Given the description of an element on the screen output the (x, y) to click on. 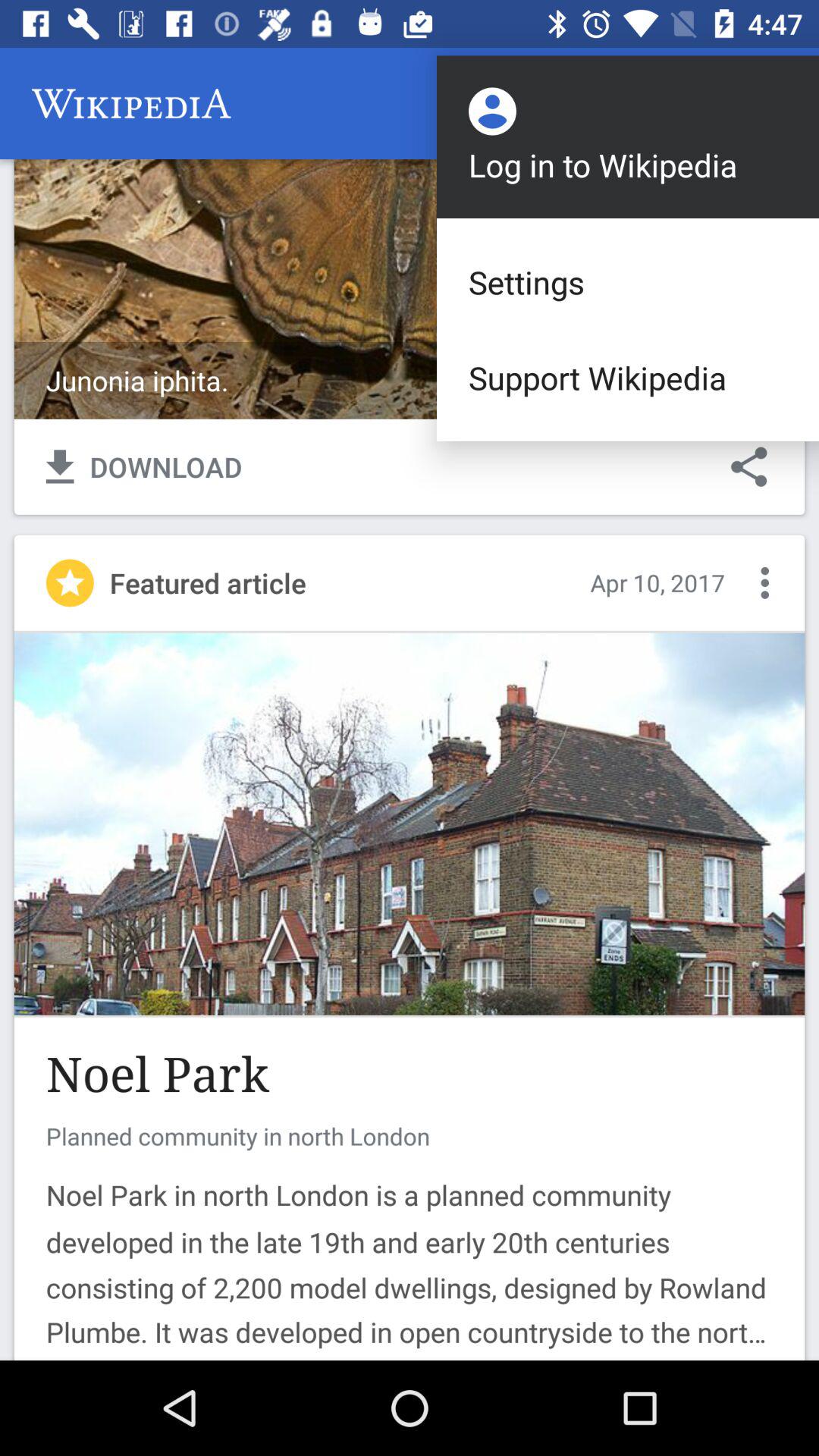
jump to the support wikipedia (627, 377)
